Given the description of an element on the screen output the (x, y) to click on. 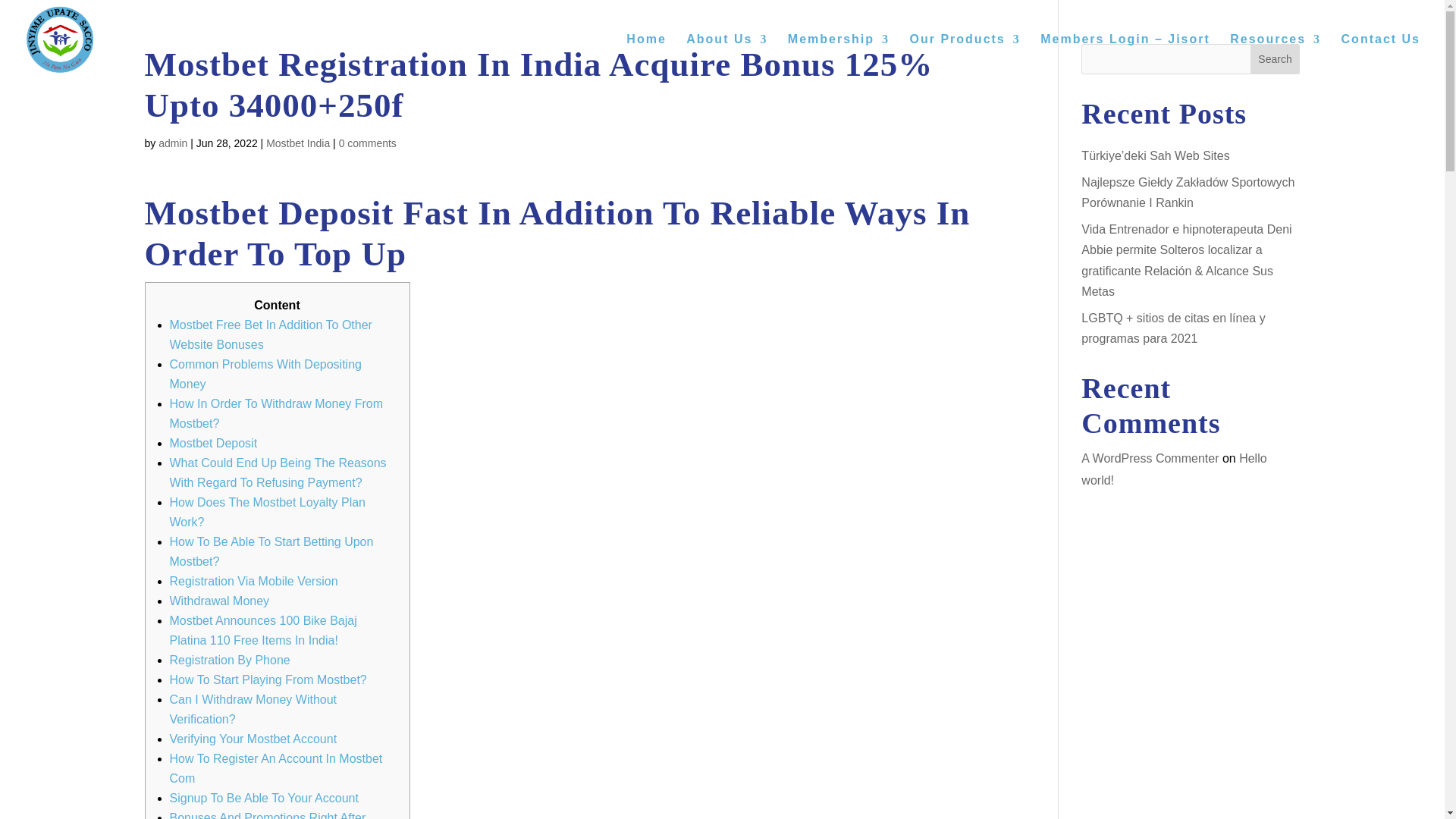
About Us (726, 56)
Posts by admin (172, 143)
Resources (1275, 56)
Our Products (965, 56)
Membership (838, 56)
Contact Us (1380, 56)
